Given the description of an element on the screen output the (x, y) to click on. 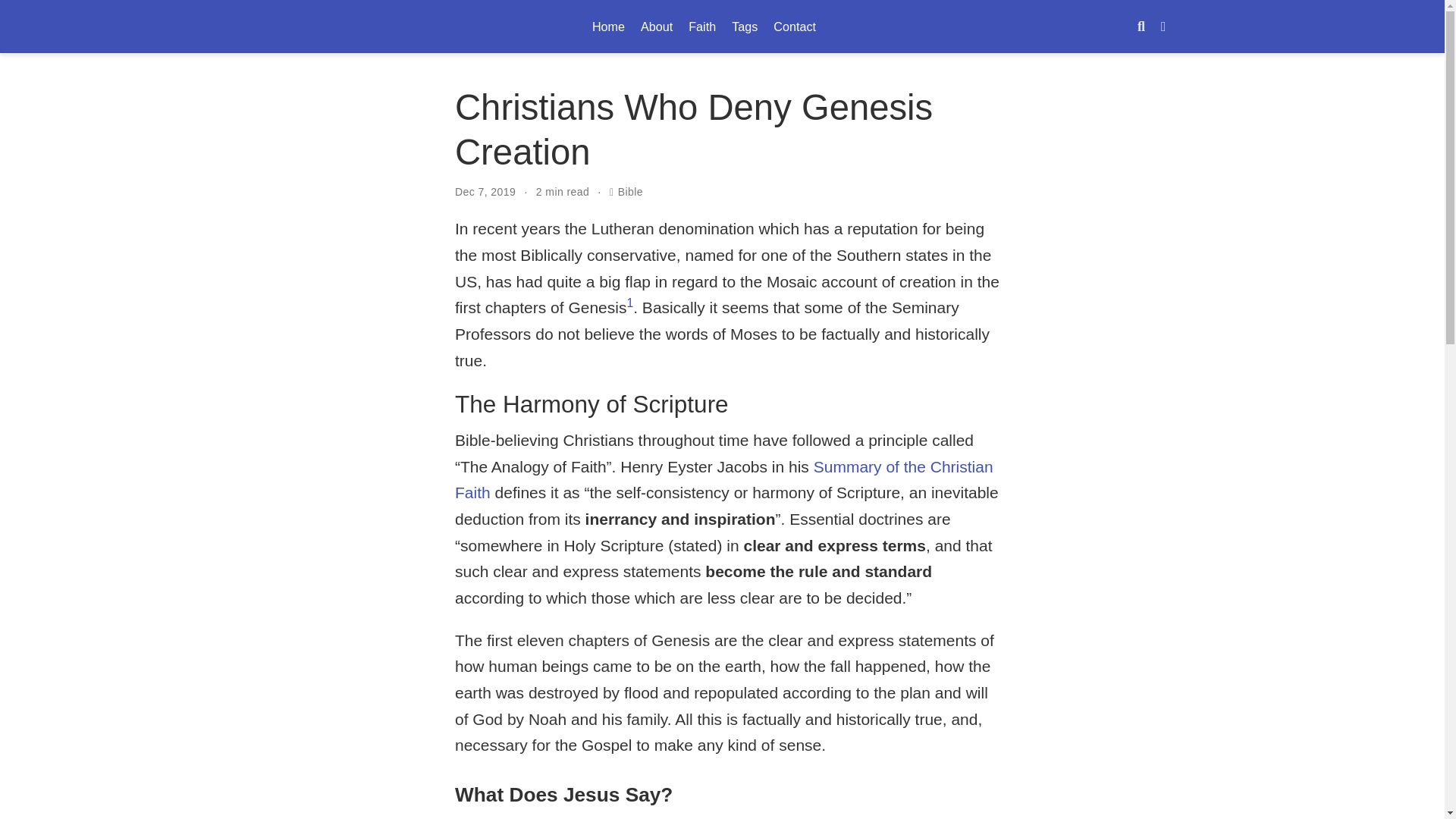
About (657, 25)
Summary of the Christian Faith (723, 479)
Home (607, 25)
Faith (702, 25)
Contact (794, 25)
Tags (722, 26)
Bible (744, 25)
